Given the description of an element on the screen output the (x, y) to click on. 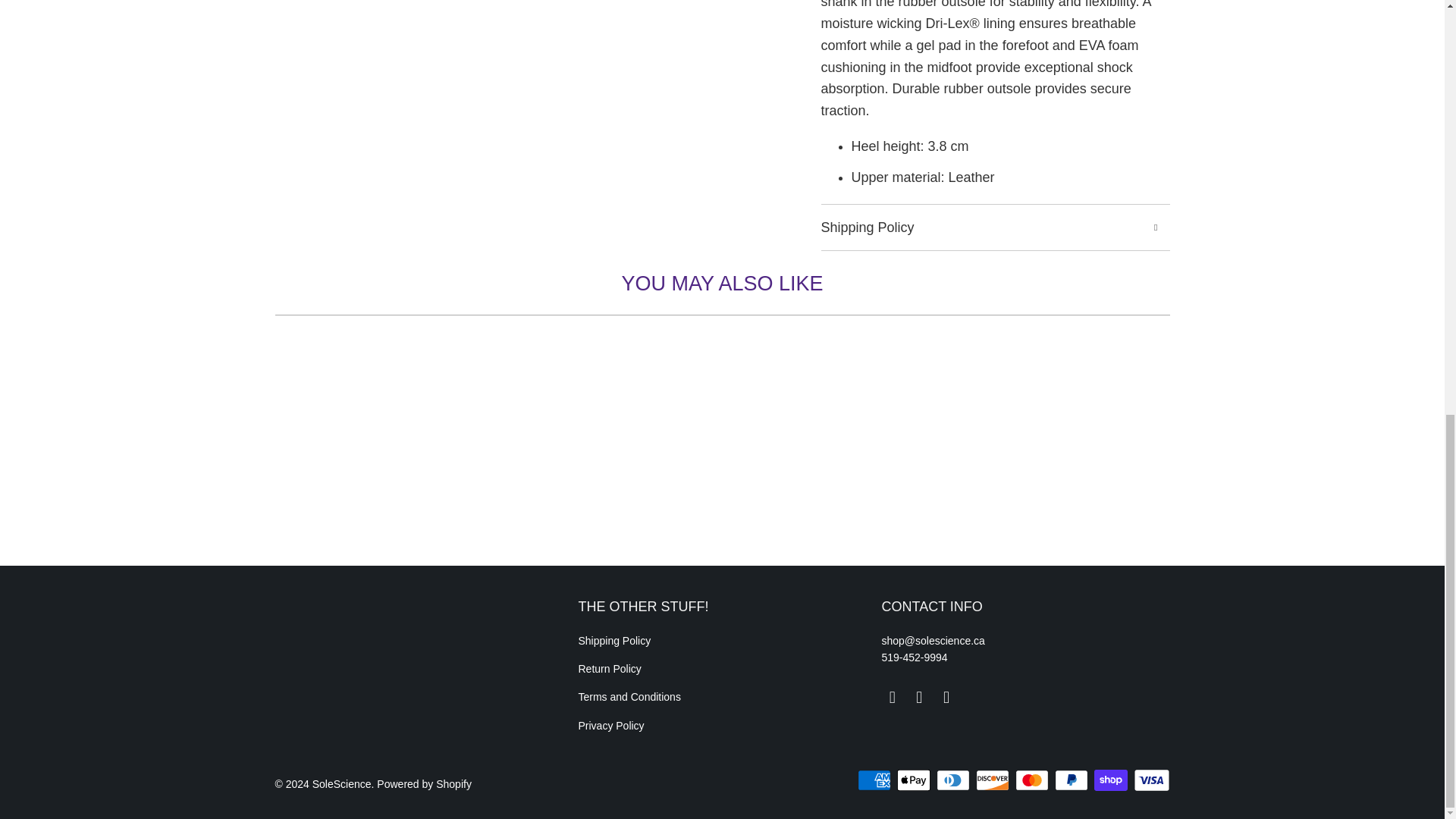
American Express (875, 780)
tel:5194529994 (913, 657)
Visa (1150, 780)
Apple Pay (914, 780)
SoleScience on Instagram (947, 697)
Discover (993, 780)
Terms of Service (628, 696)
Privacy Policy (610, 725)
Diners Club (954, 780)
Mastercard (1032, 780)
